Given the description of an element on the screen output the (x, y) to click on. 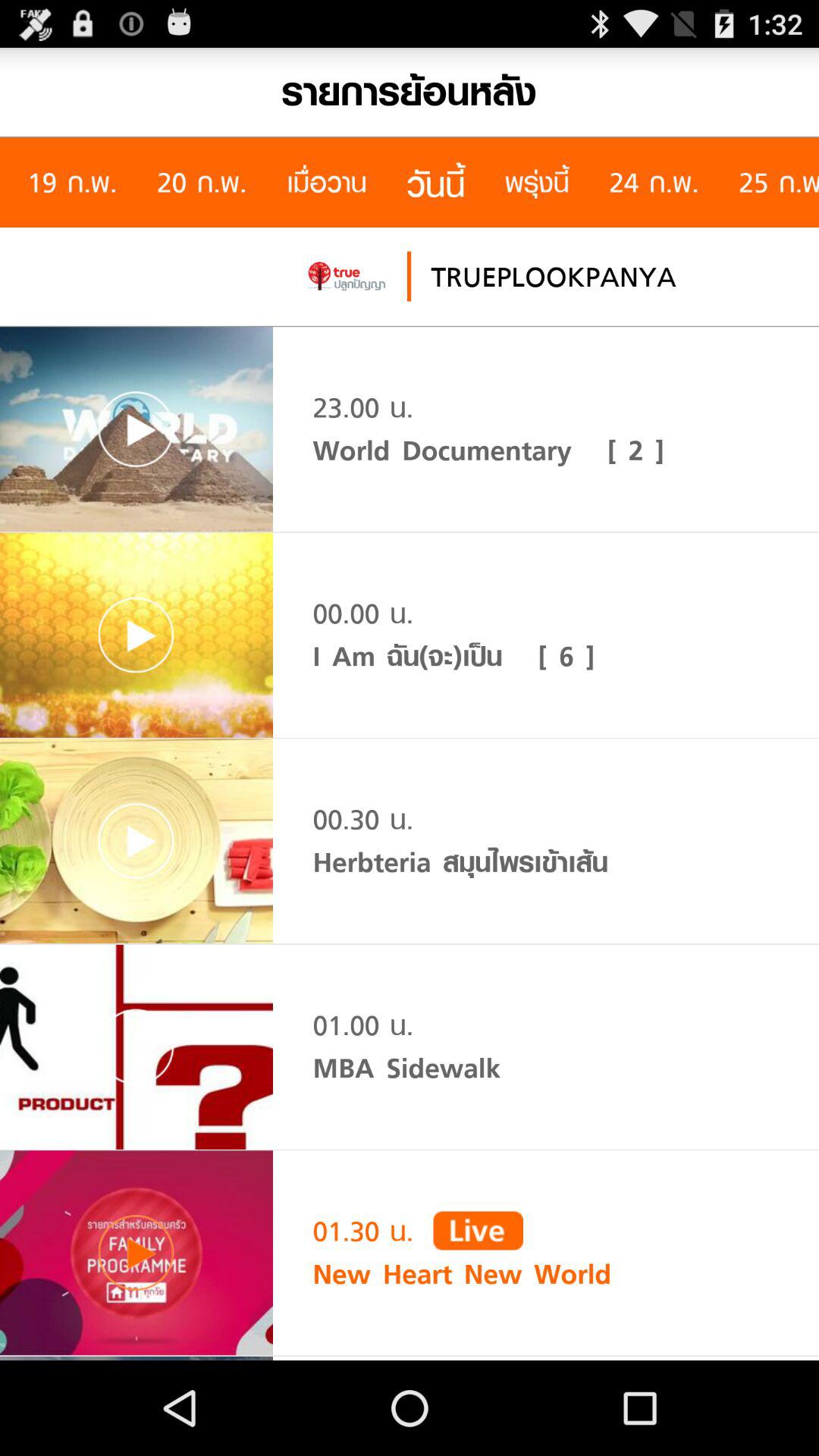
swipe until the mba sidewalk (406, 1068)
